Given the description of an element on the screen output the (x, y) to click on. 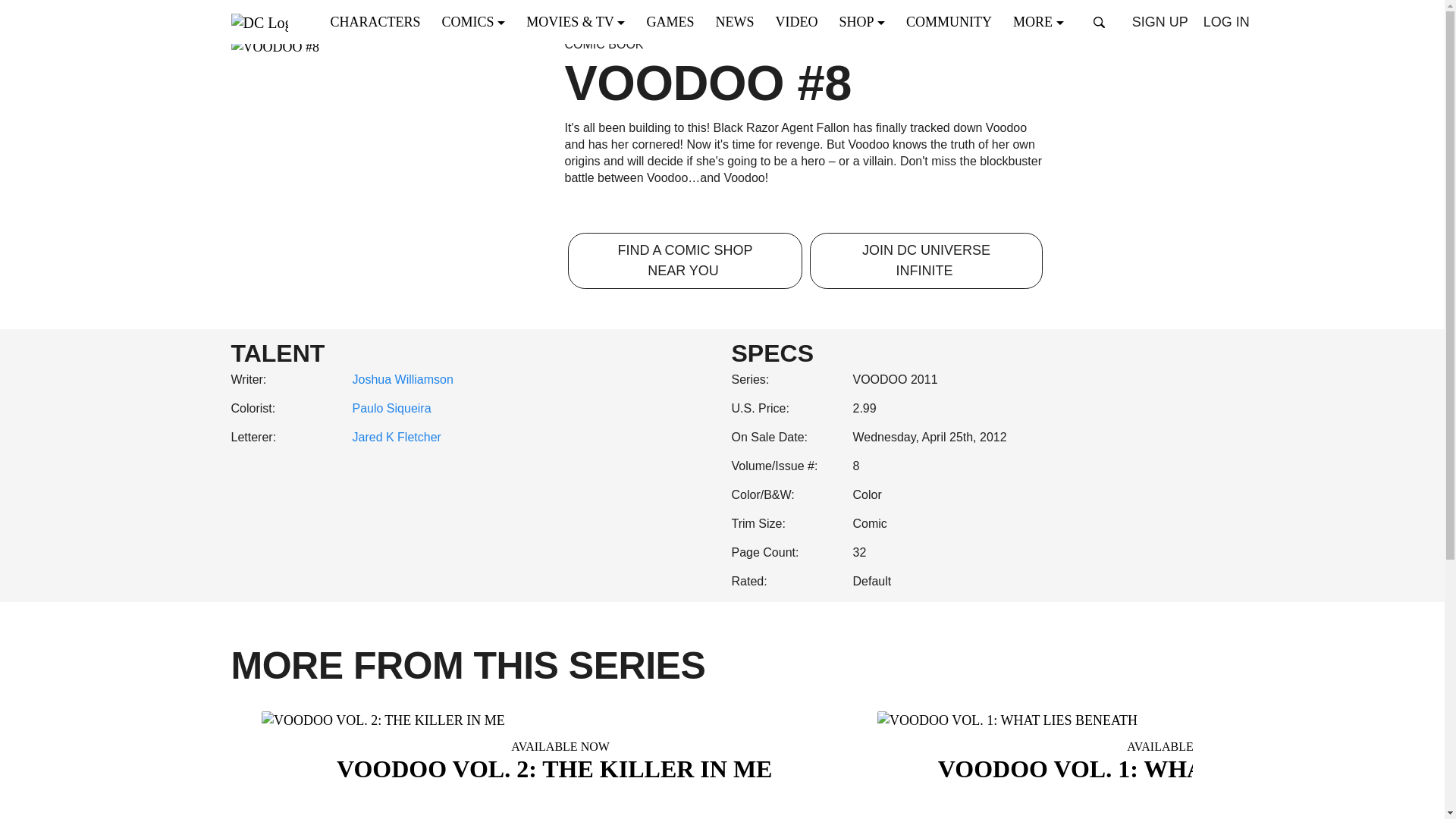
VOODOO VOL. 2: THE KILLER IN ME  (559, 719)
Open search (1099, 22)
CHARACTERS (379, 21)
VOODOO VOL. 2: THE KILLER IN ME  (559, 759)
VOODOO VOL. 2: THE KILLER IN ME  (559, 749)
COMICS (478, 21)
